Given the description of an element on the screen output the (x, y) to click on. 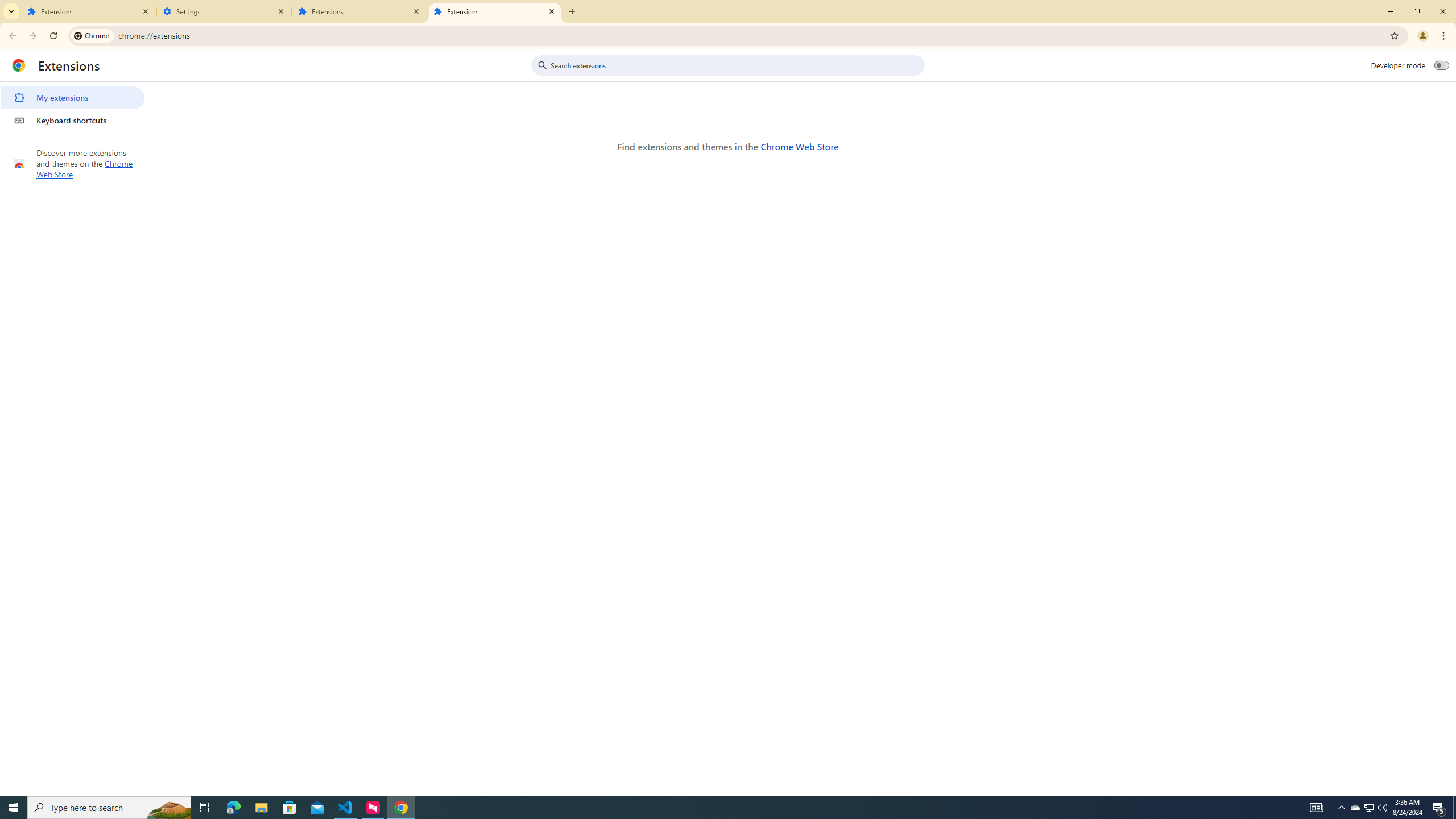
Extensions (494, 11)
Chrome Web Store (799, 146)
Settings (224, 11)
My extensions (72, 97)
Extensions (88, 11)
Developer mode (1442, 64)
